Given the description of an element on the screen output the (x, y) to click on. 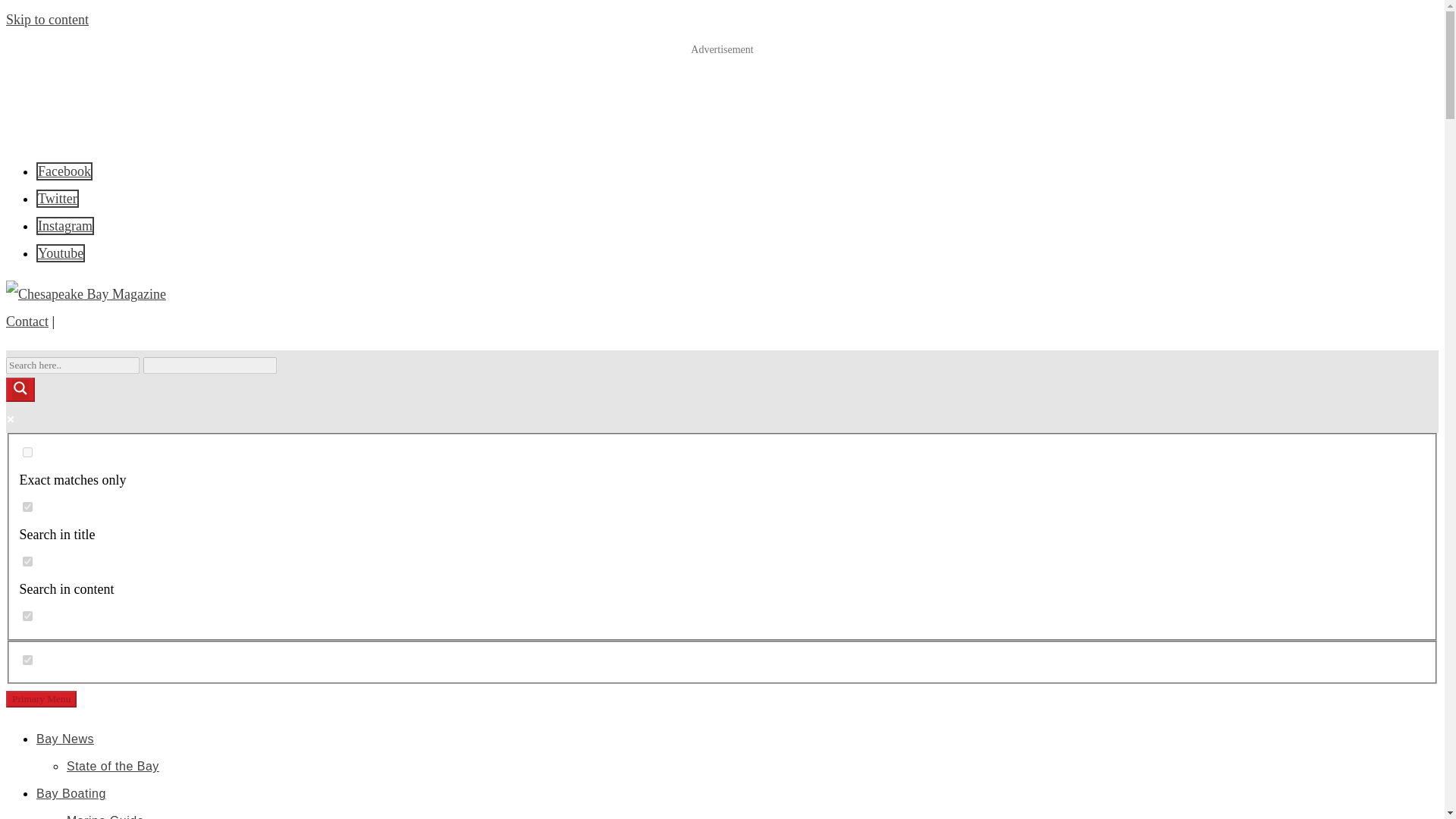
Youtube (60, 253)
excerpt (27, 615)
post (27, 660)
title (27, 506)
Start search (285, 359)
Primary Menu (41, 699)
Bay Boating (71, 793)
Contact (26, 321)
exact (27, 452)
content (27, 561)
